Given the description of an element on the screen output the (x, y) to click on. 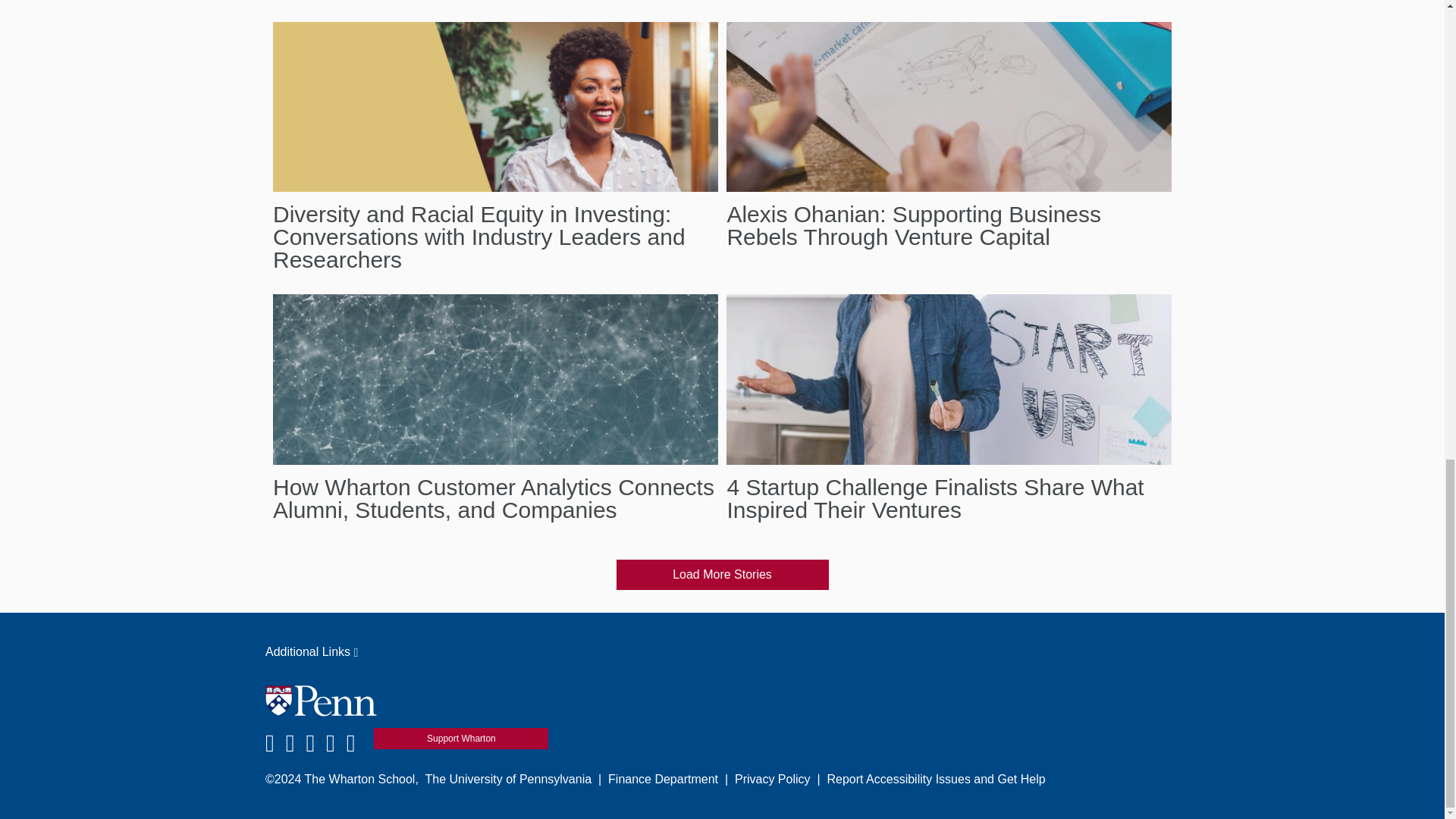
Give to Wharton (461, 738)
Finance Department (662, 779)
Additional Links (721, 651)
